Given the description of an element on the screen output the (x, y) to click on. 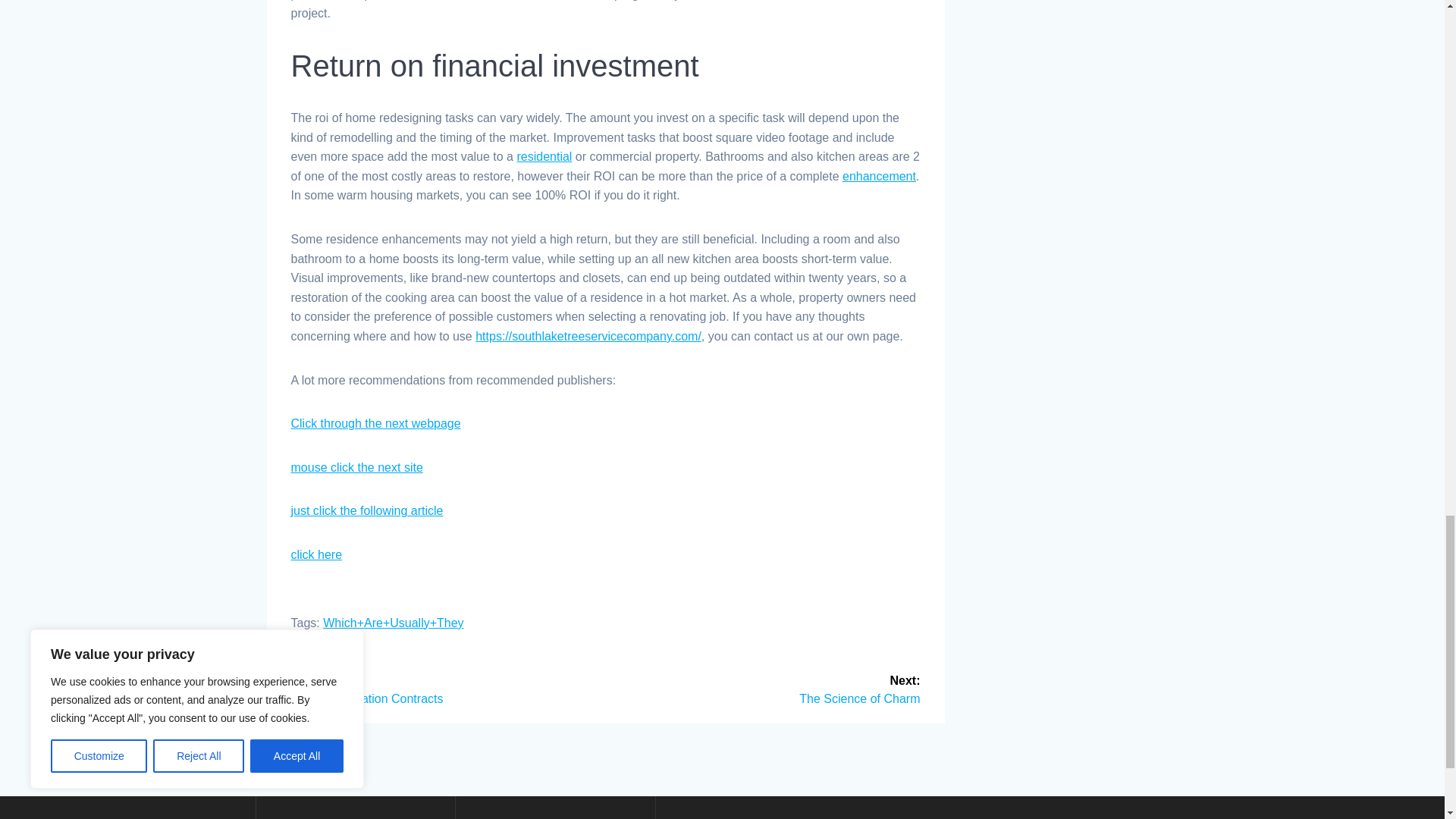
residential (768, 688)
enhancement (544, 155)
click here (879, 175)
just click the following article (316, 554)
mouse click the next site (367, 510)
Click through the next webpage (357, 467)
